Given the description of an element on the screen output the (x, y) to click on. 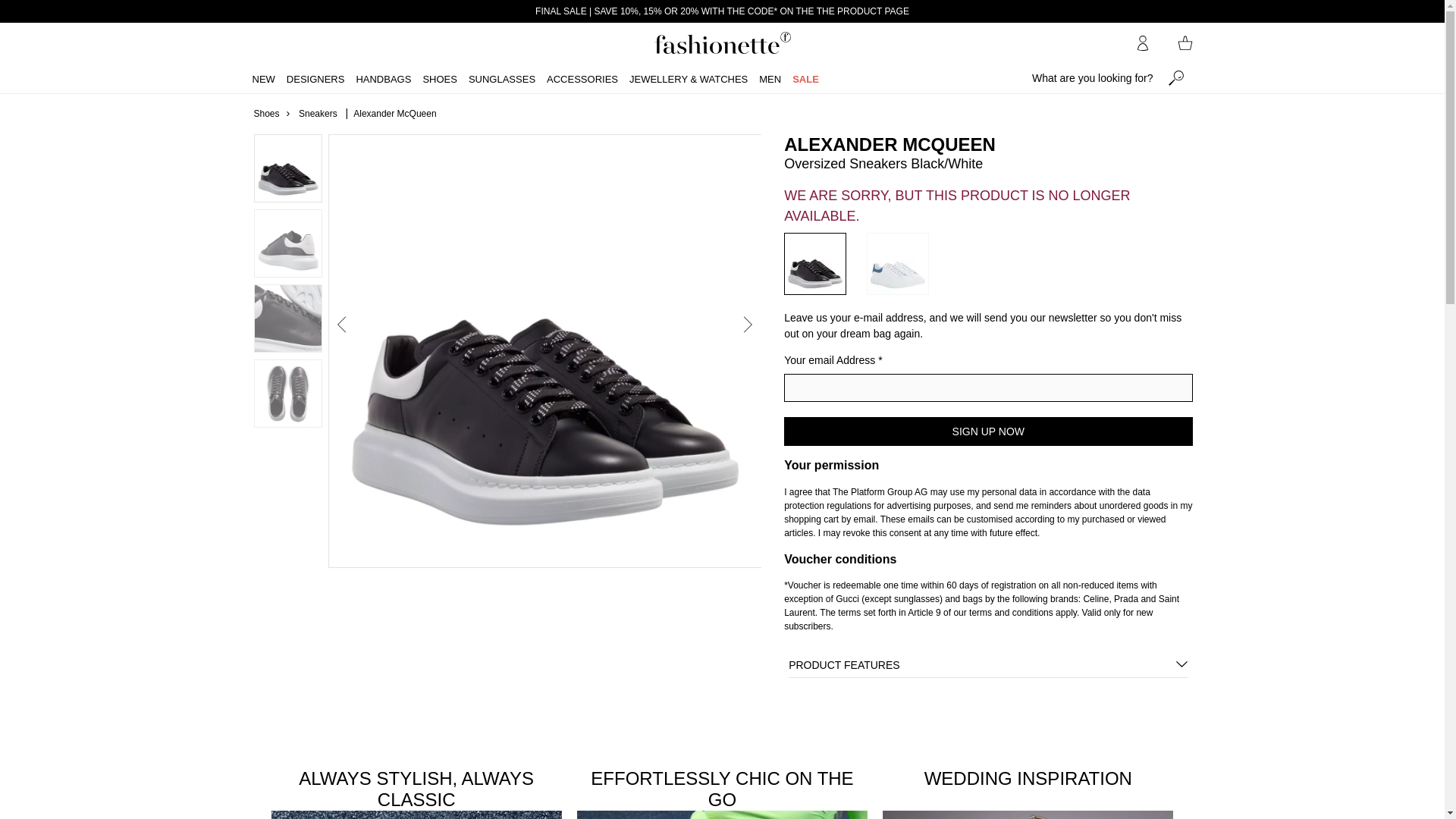
Go to Cart (1184, 43)
Men (769, 78)
SHOES (439, 78)
fashionette (721, 42)
Designer Handbags Online (721, 42)
Designers (315, 78)
data protection regulations (967, 498)
Always stylish, always classic (415, 793)
Accessories (721, 793)
